Given the description of an element on the screen output the (x, y) to click on. 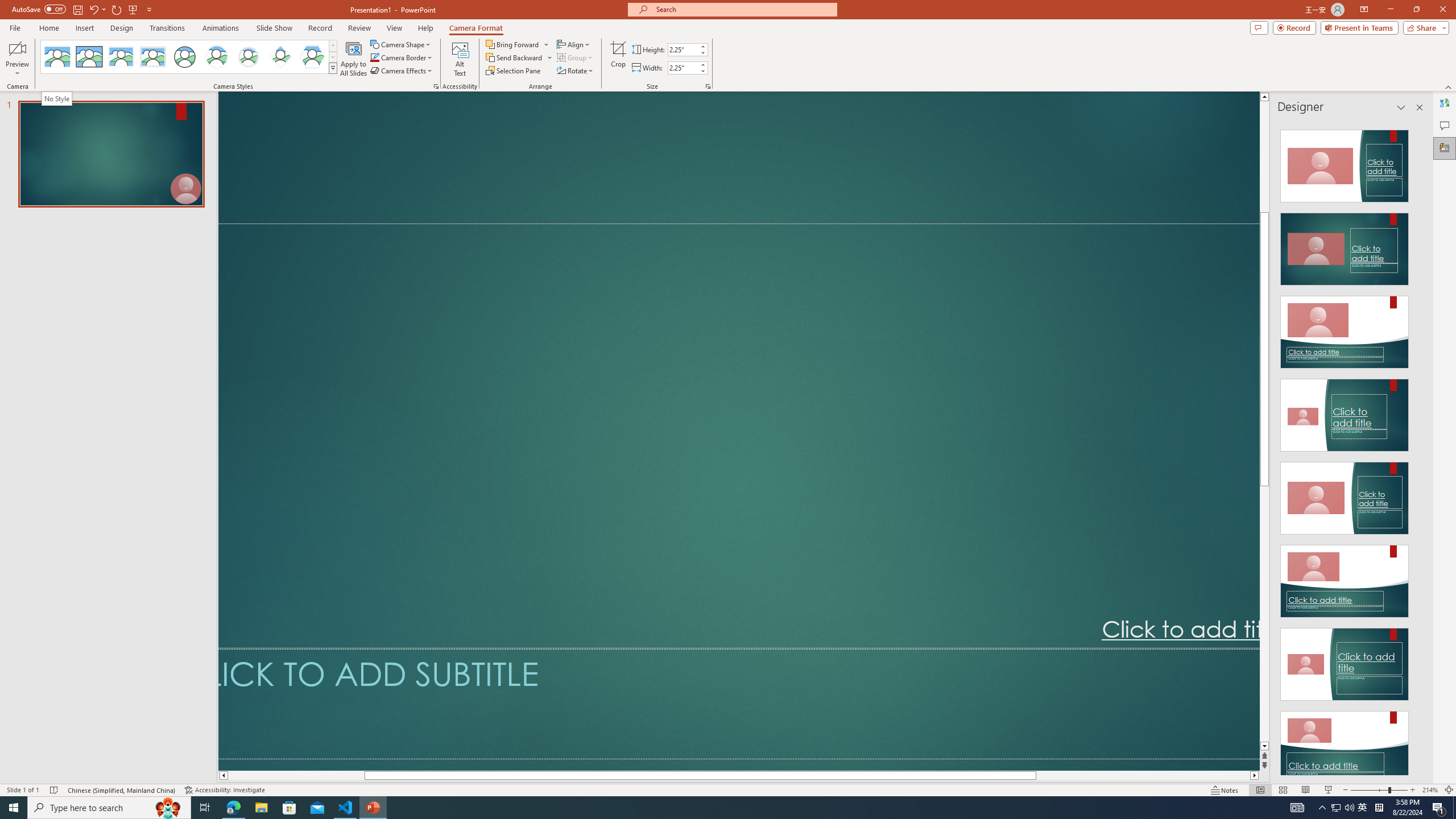
Soft Edge Rectangle (152, 56)
Center Shadow Diamond (280, 56)
Camera Effects (402, 69)
